Given the description of an element on the screen output the (x, y) to click on. 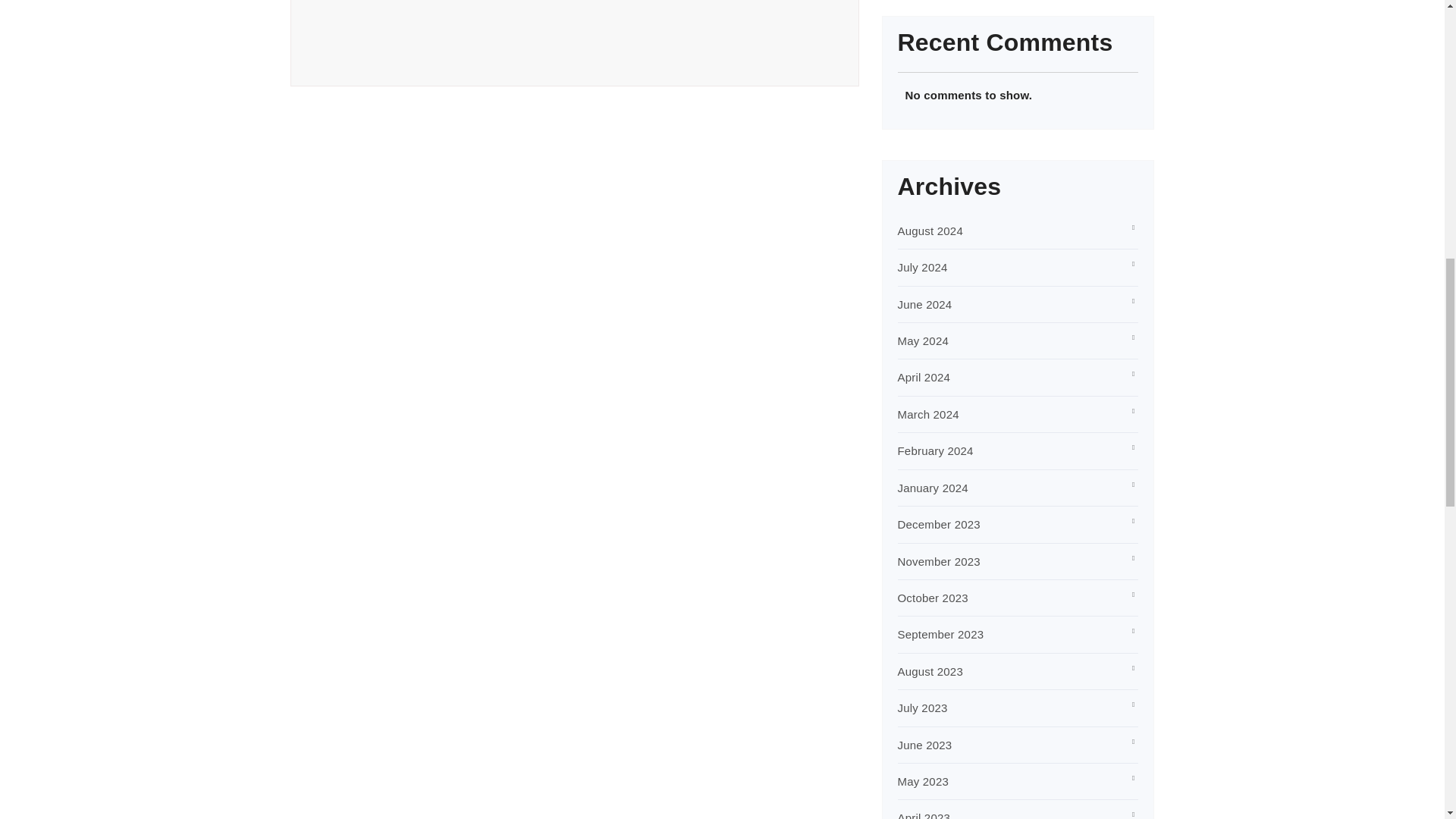
August 2024 (930, 230)
May 2024 (923, 340)
July 2024 (922, 267)
June 2024 (925, 304)
